Given the description of an element on the screen output the (x, y) to click on. 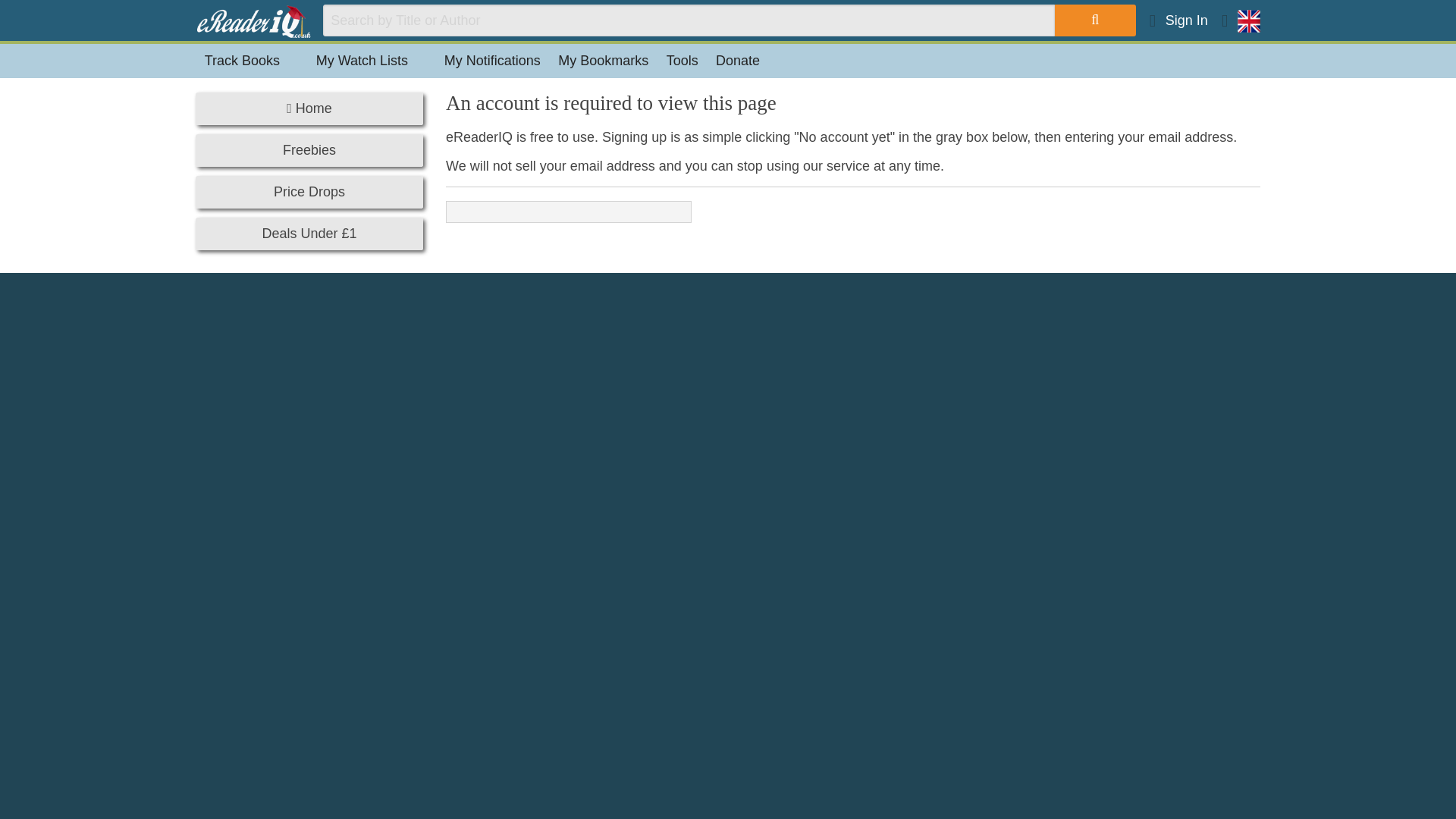
My Watch Lists (371, 60)
Track Books (251, 60)
Sign In (1179, 20)
